Given the description of an element on the screen output the (x, y) to click on. 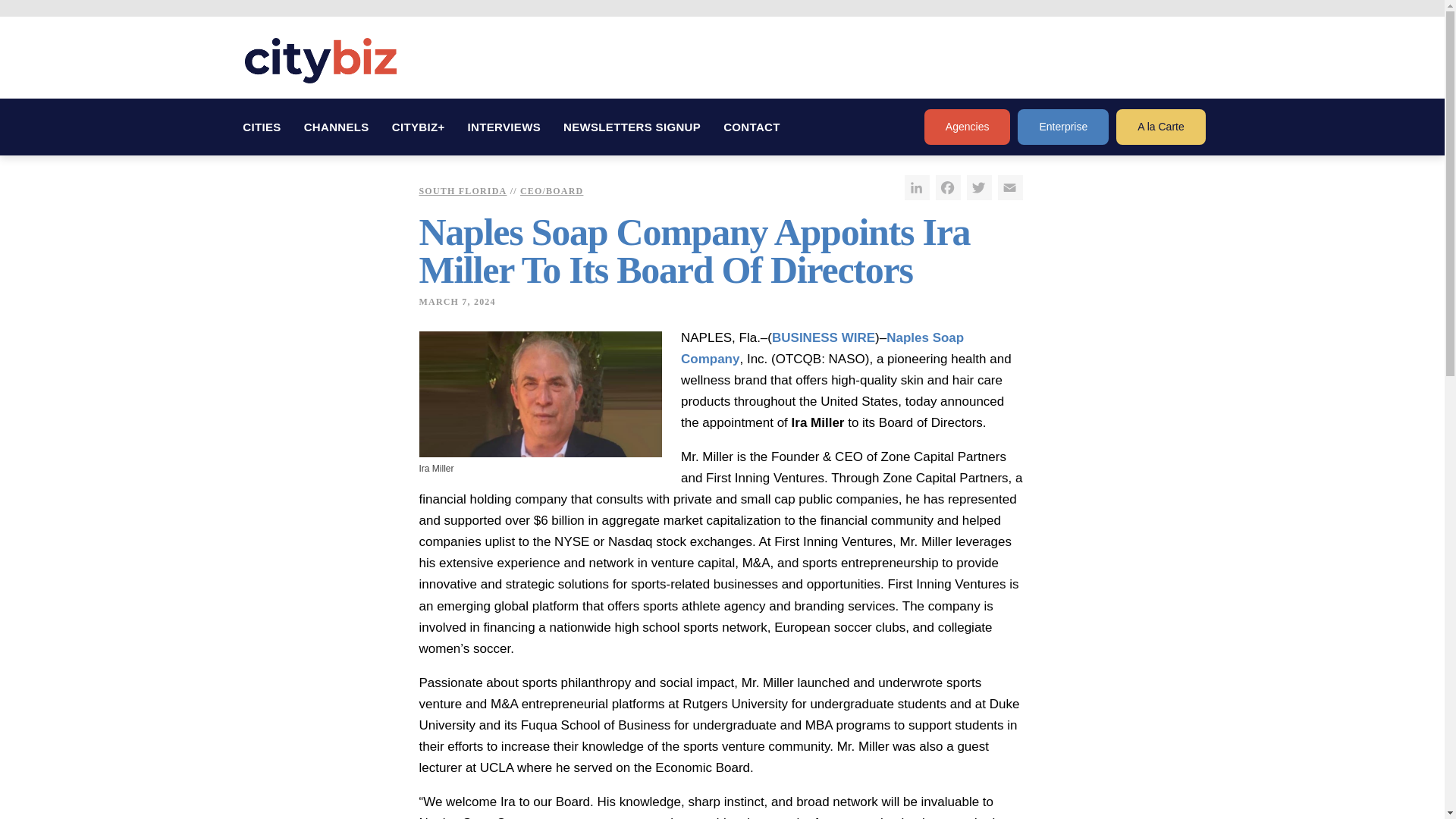
Twitter (978, 187)
Email (1010, 187)
Facebook (948, 187)
CHANNELS (336, 127)
citybiz (320, 60)
LinkedIn (916, 187)
citybiz (320, 60)
CITIES (261, 127)
